Given the description of an element on the screen output the (x, y) to click on. 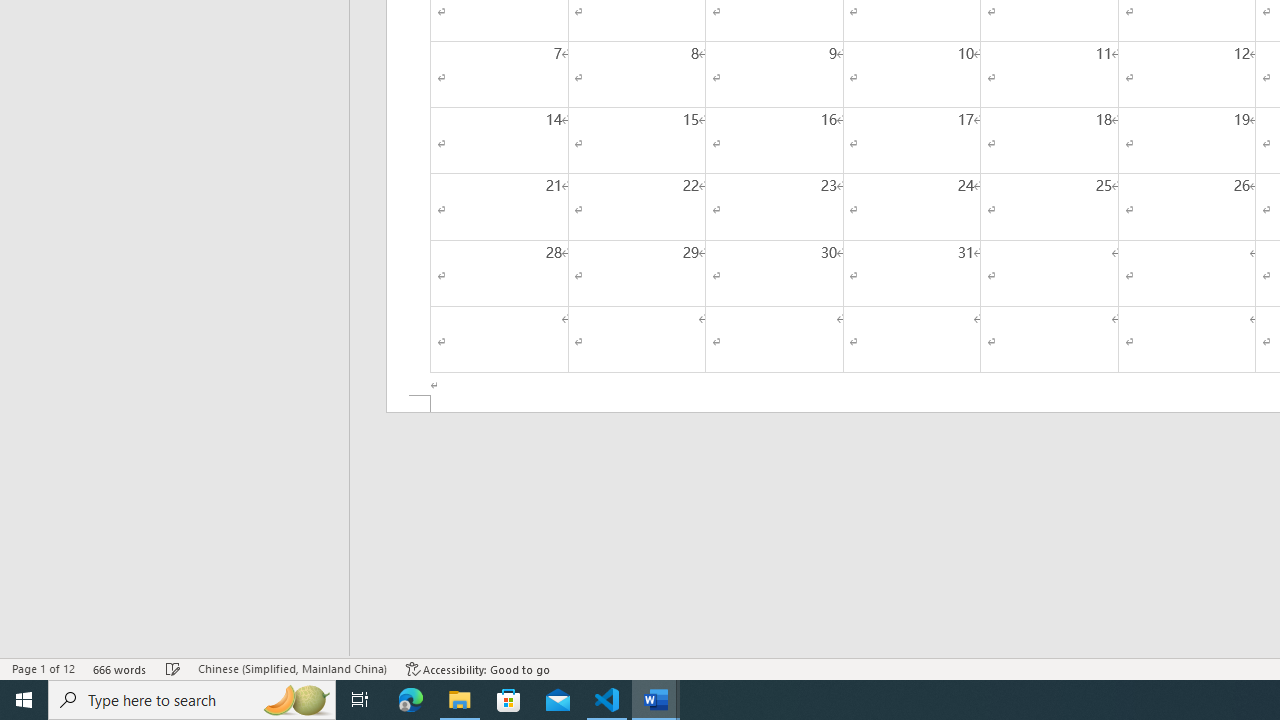
Word Count 666 words (119, 668)
Spelling and Grammar Check Checking (173, 668)
Language Chinese (Simplified, Mainland China) (292, 668)
Accessibility Checker Accessibility: Good to go (478, 668)
Page Number Page 1 of 12 (43, 668)
